Given the description of an element on the screen output the (x, y) to click on. 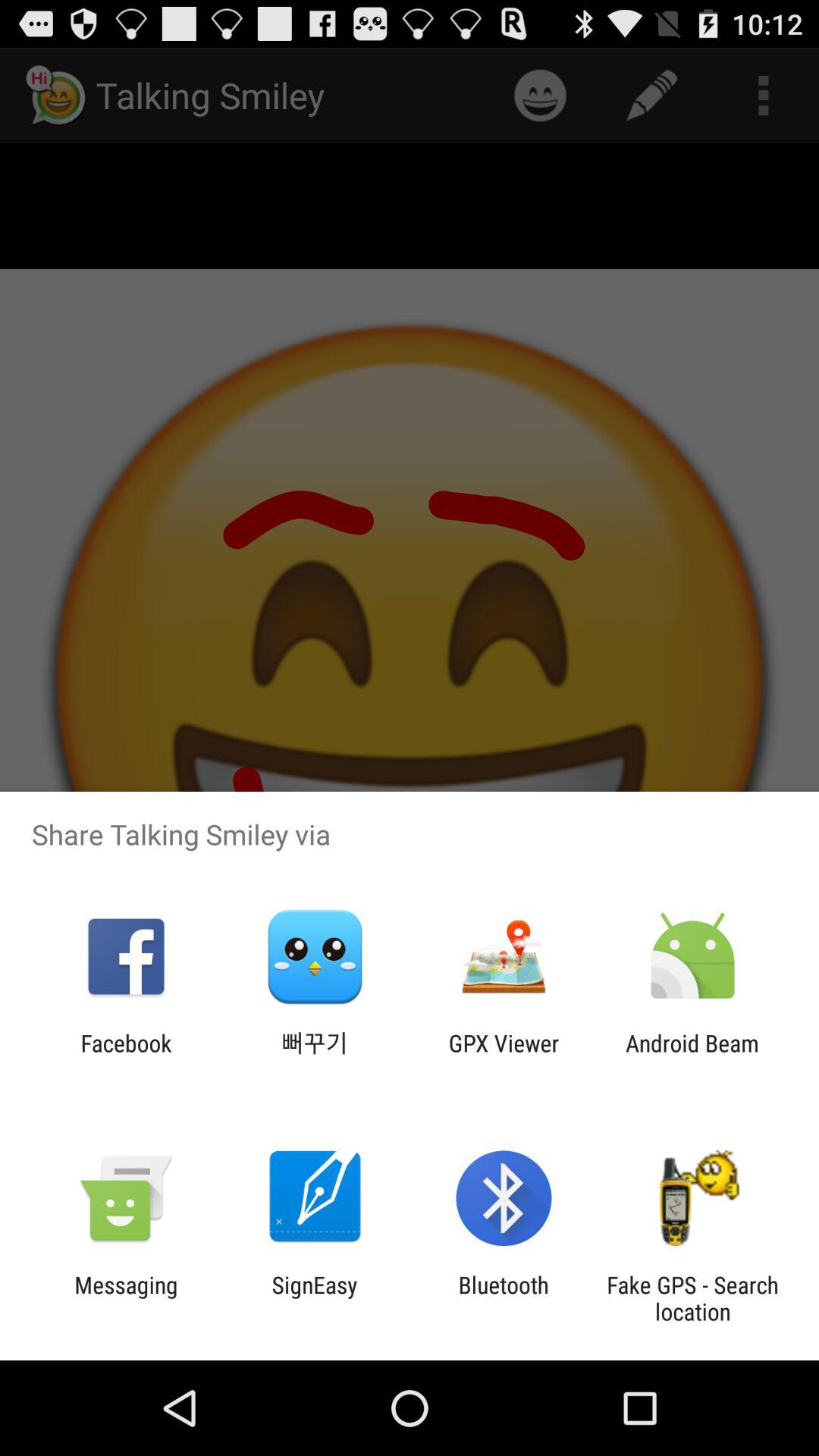
turn off the app to the left of signeasy icon (126, 1298)
